Given the description of an element on the screen output the (x, y) to click on. 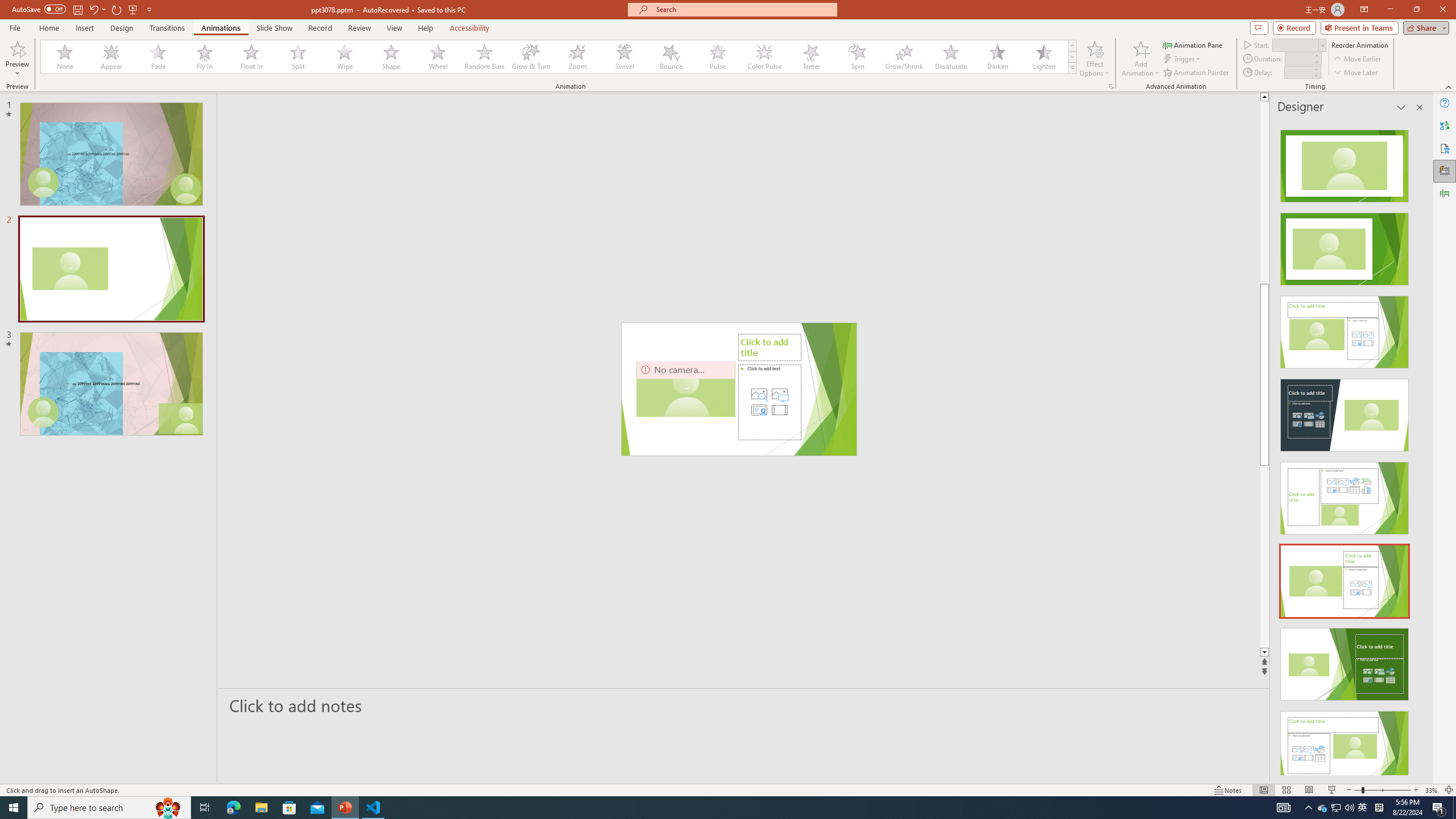
Slide (111, 383)
Shape (391, 56)
More Options (17, 68)
Move Earlier (1357, 58)
Home (48, 28)
Reading View (1308, 790)
